Given the description of an element on the screen output the (x, y) to click on. 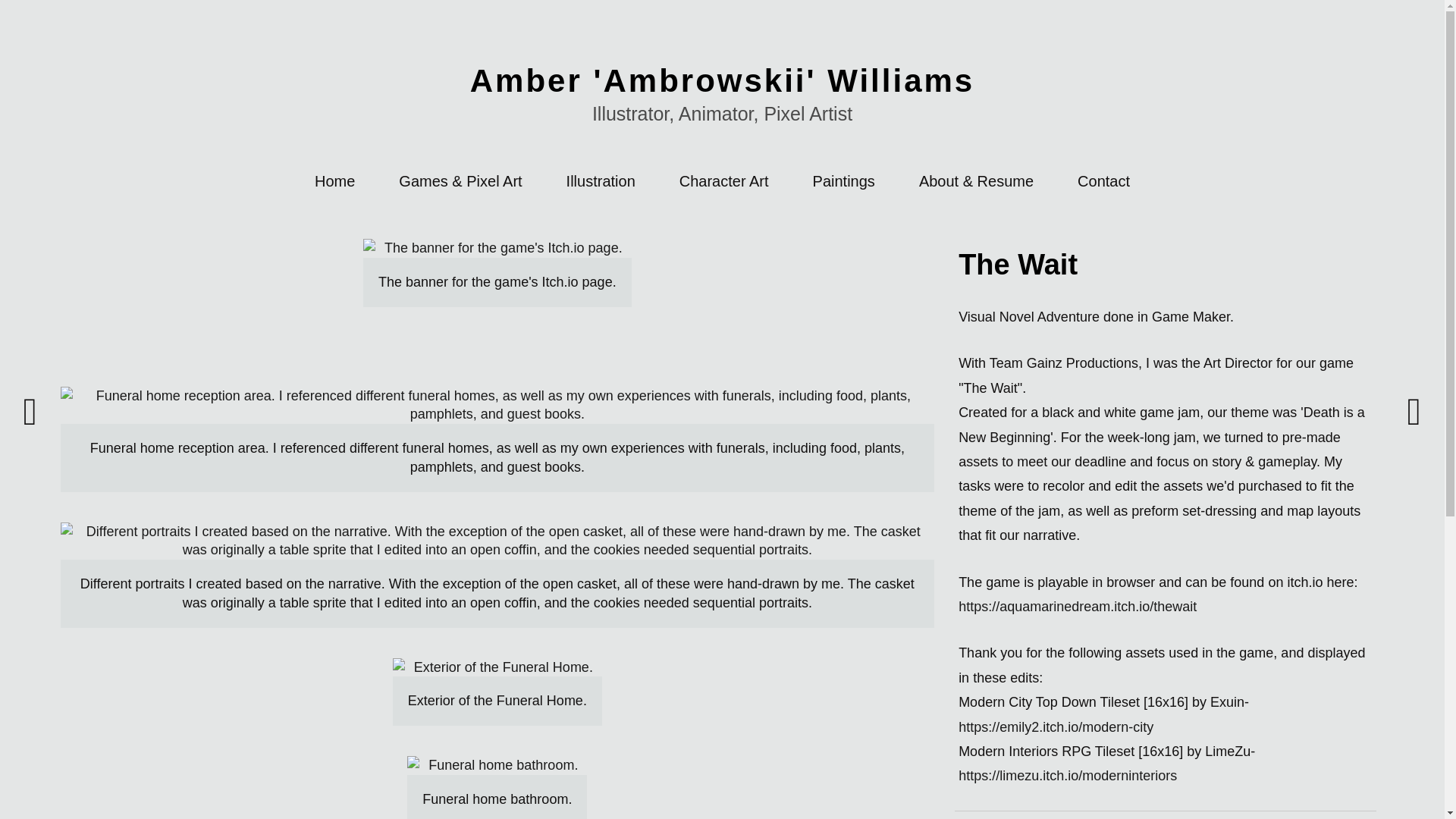
Illustration (600, 180)
Amber 'Ambrowskii' Williams (722, 80)
Paintings (843, 180)
Home (334, 180)
Contact (1103, 180)
Character Art (723, 180)
